Given the description of an element on the screen output the (x, y) to click on. 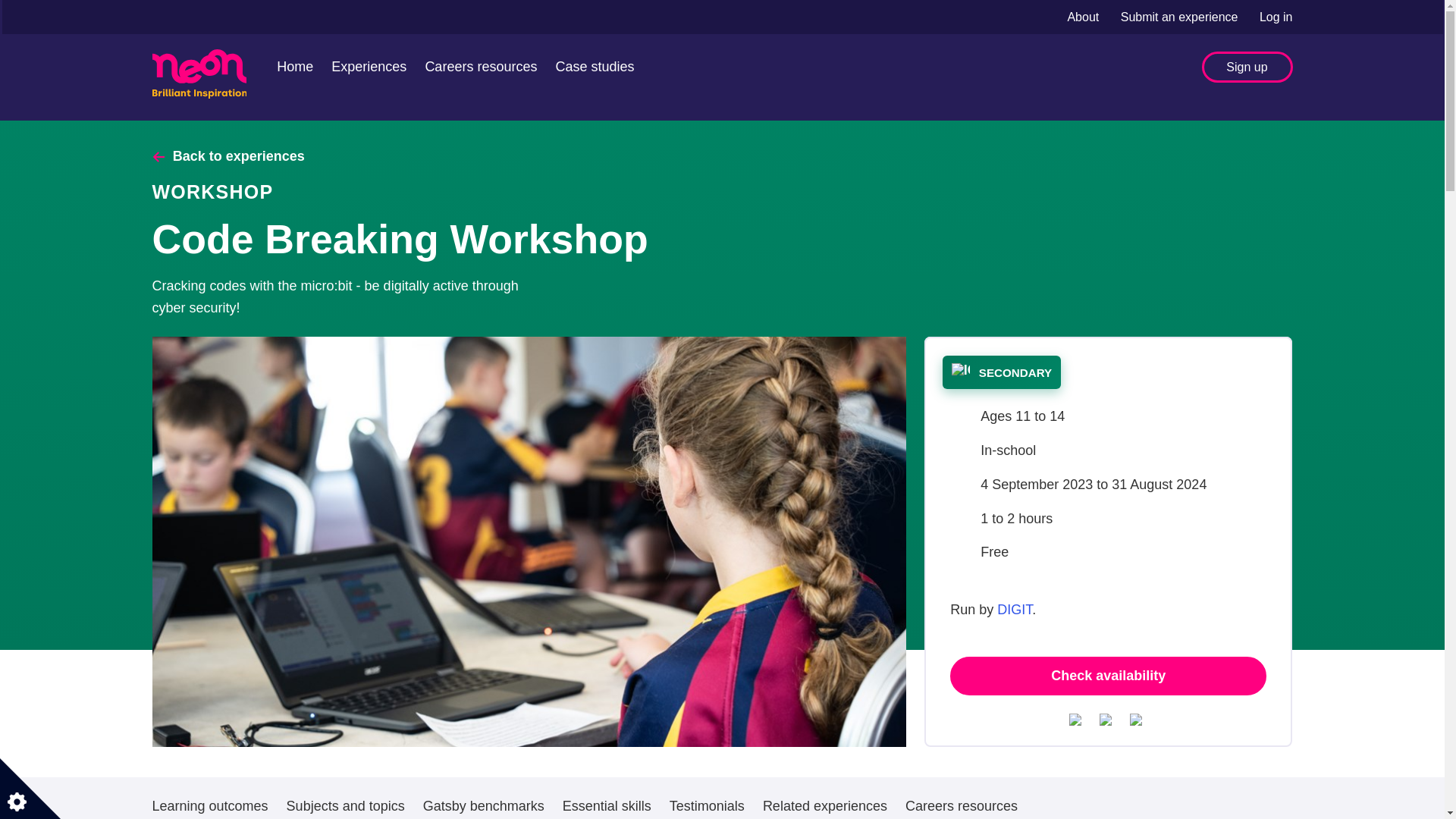
Testimonials (706, 798)
Sign up (1246, 66)
Gatsby benchmarks (483, 798)
About (1084, 16)
DIGIT (1014, 609)
Check availability (1108, 675)
Submit an experience (1181, 16)
Learning outcomes (209, 798)
Twitter (1077, 719)
